Given the description of an element on the screen output the (x, y) to click on. 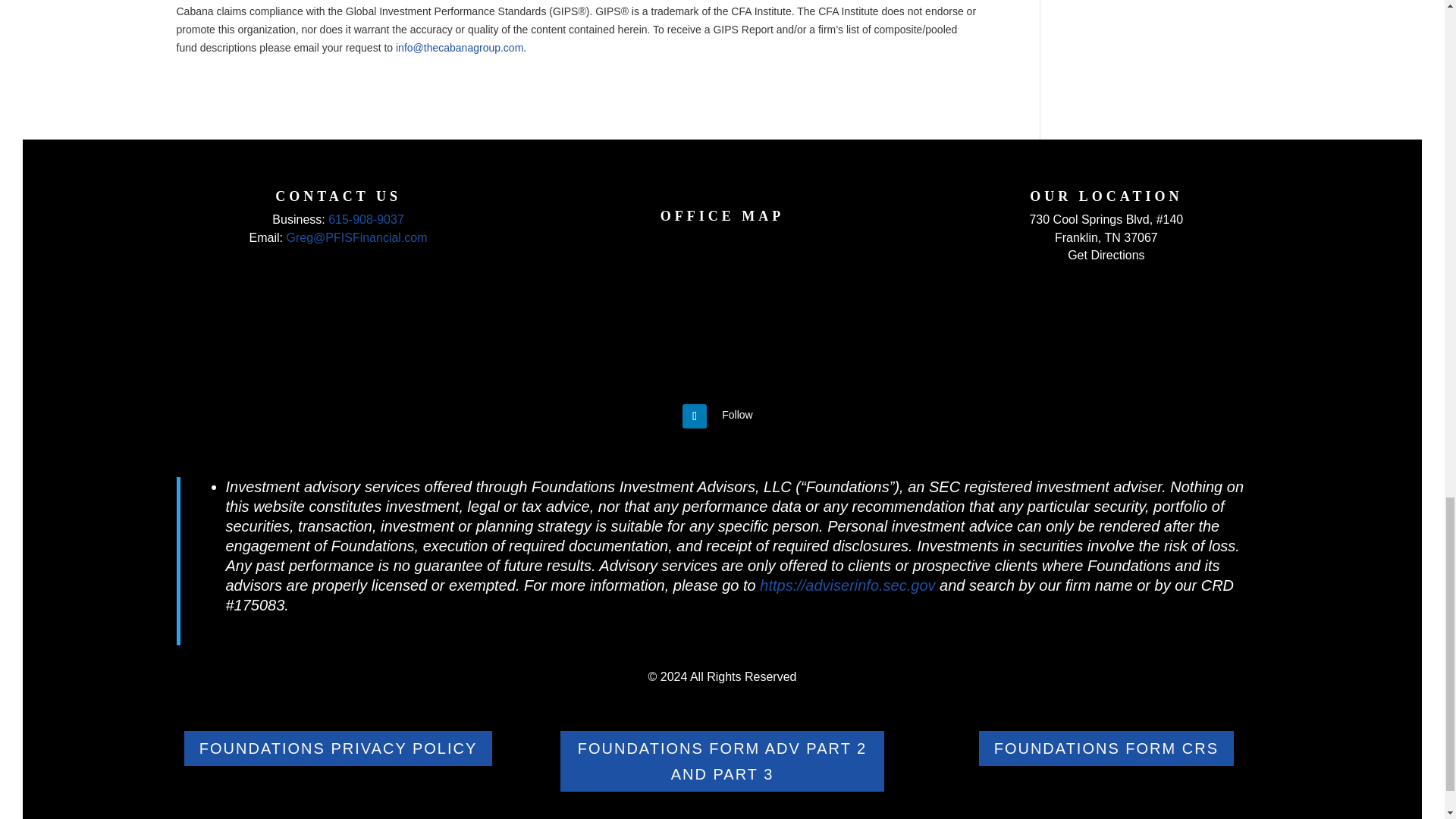
615-908-9037 (366, 219)
Follow on LinkedIn (694, 416)
Get Directions (1105, 254)
Follow (737, 414)
Franklin, TN 37067 (1105, 237)
LinkedIn (737, 414)
